Given the description of an element on the screen output the (x, y) to click on. 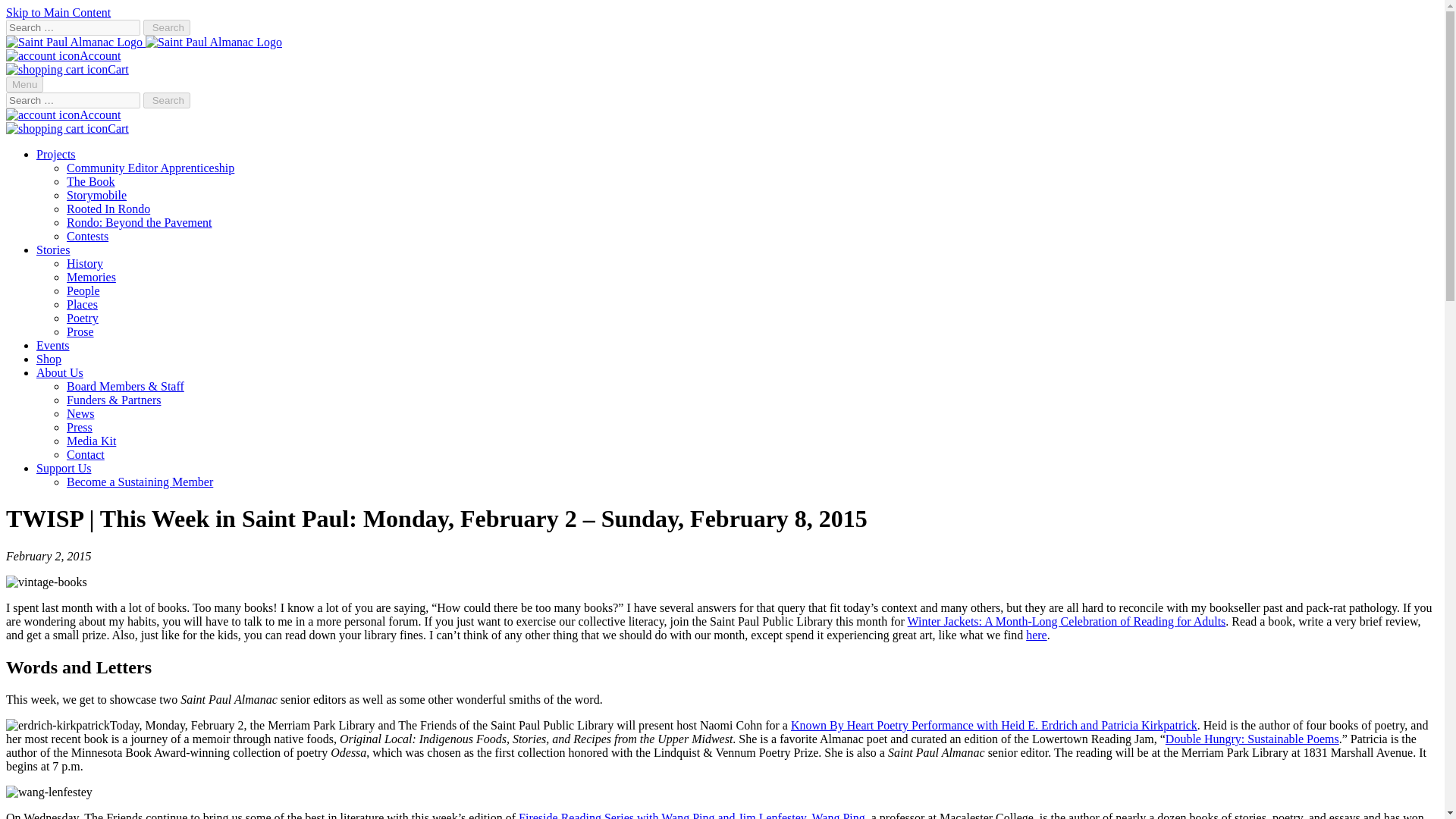
Shop (48, 358)
Poetry (82, 318)
Storymobile (96, 195)
History (84, 263)
Rooted In Rondo (107, 208)
Press (79, 427)
News (80, 413)
Fireside Reading Series with Wang Ping and Jim Lenfestey (662, 815)
Prose (80, 331)
Double Hungry: Sustainable Poems (1252, 738)
